Given the description of an element on the screen output the (x, y) to click on. 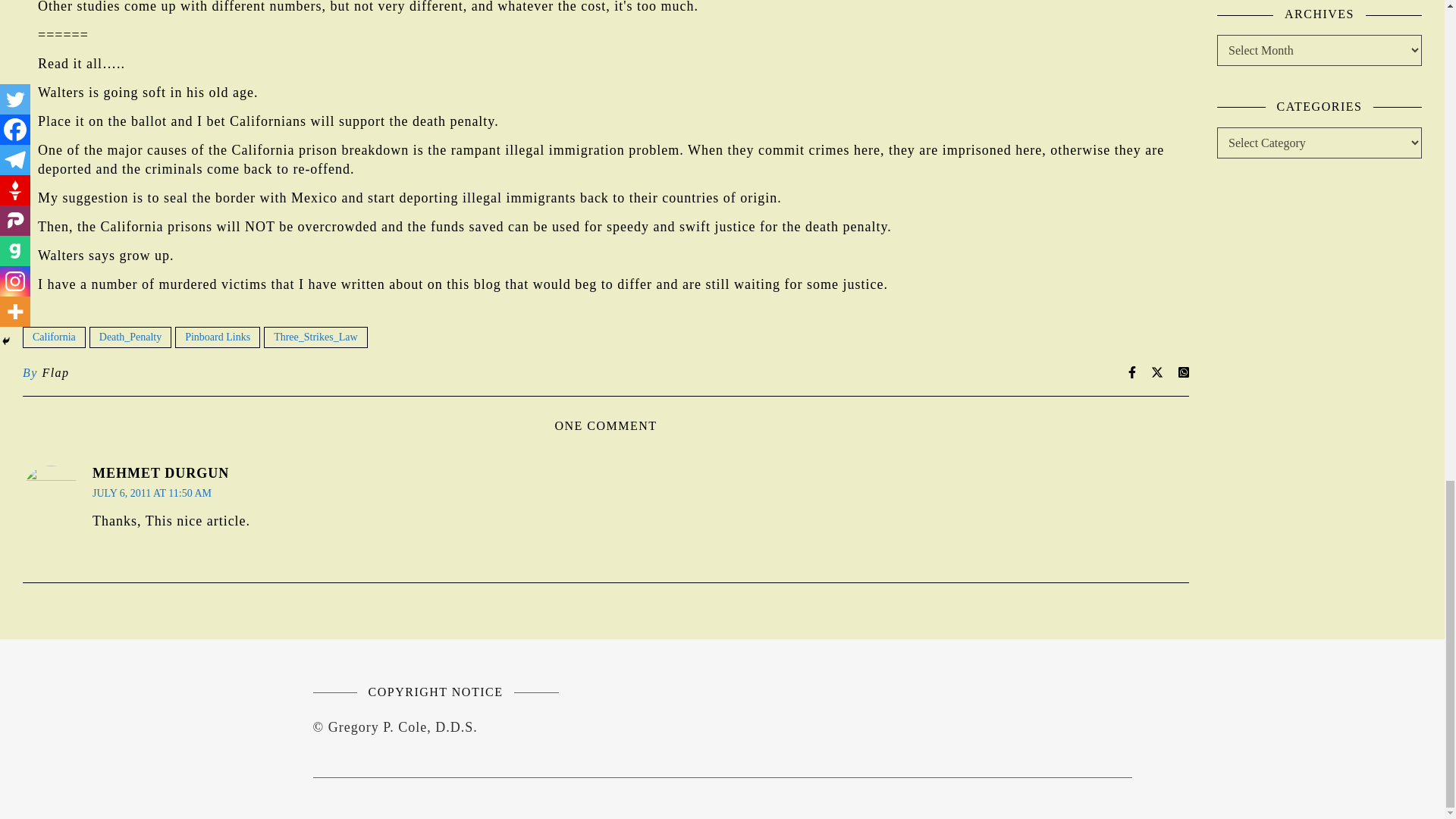
California (54, 337)
Flap (55, 372)
JULY 6, 2011 AT 11:50 AM (152, 492)
Pinboard Links (217, 337)
Posts by Flap (55, 372)
